Given the description of an element on the screen output the (x, y) to click on. 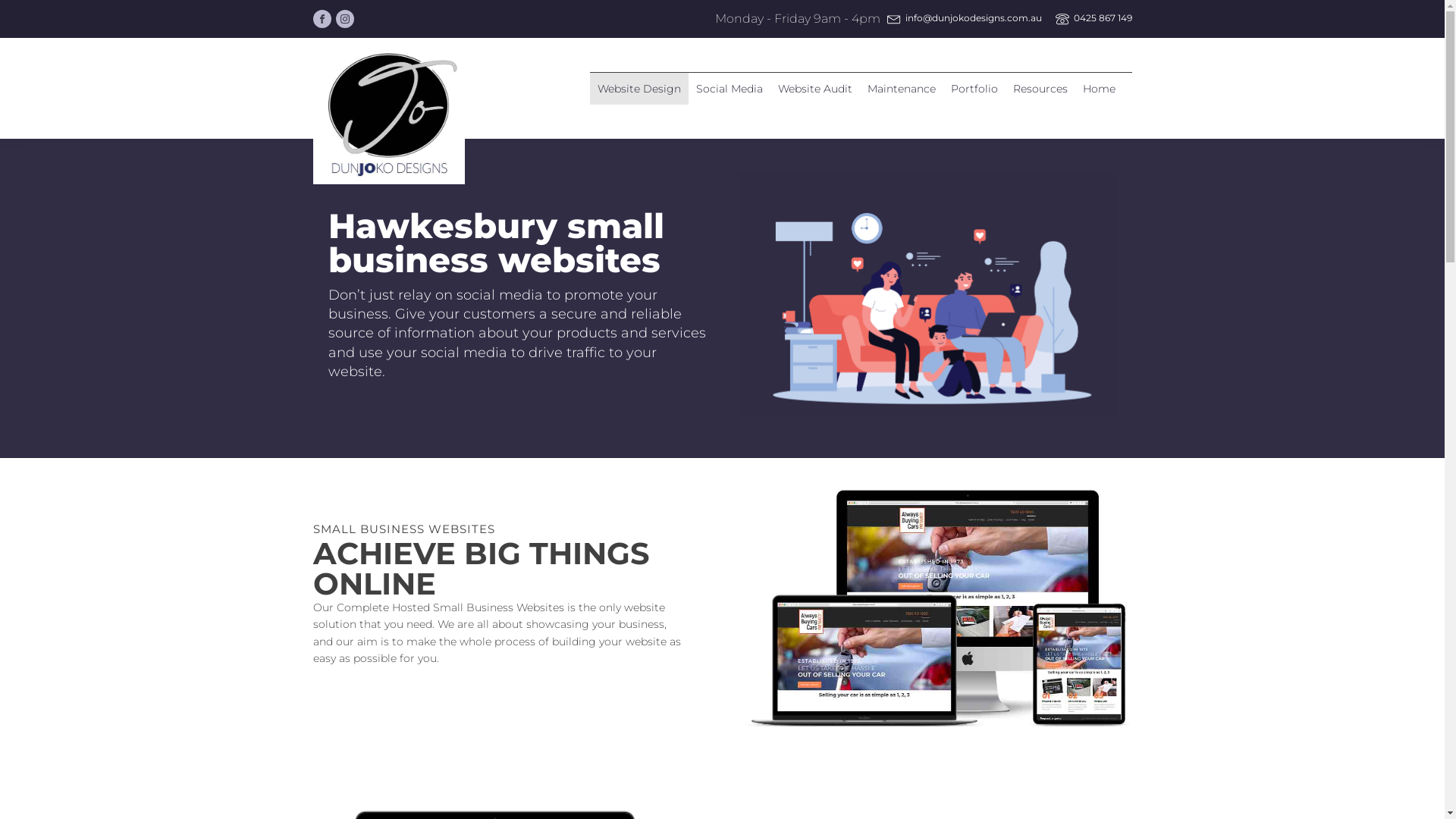
Website Design Element type: text (638, 88)
Home Element type: text (1099, 88)
info@dunjokodesigns.com.au Element type: text (973, 18)
Portfolio Element type: text (974, 88)
Social Media Element type: text (729, 88)
Website Audit Element type: text (814, 88)
Resources Element type: text (1040, 88)
Maintenance Element type: text (901, 88)
